Given the description of an element on the screen output the (x, y) to click on. 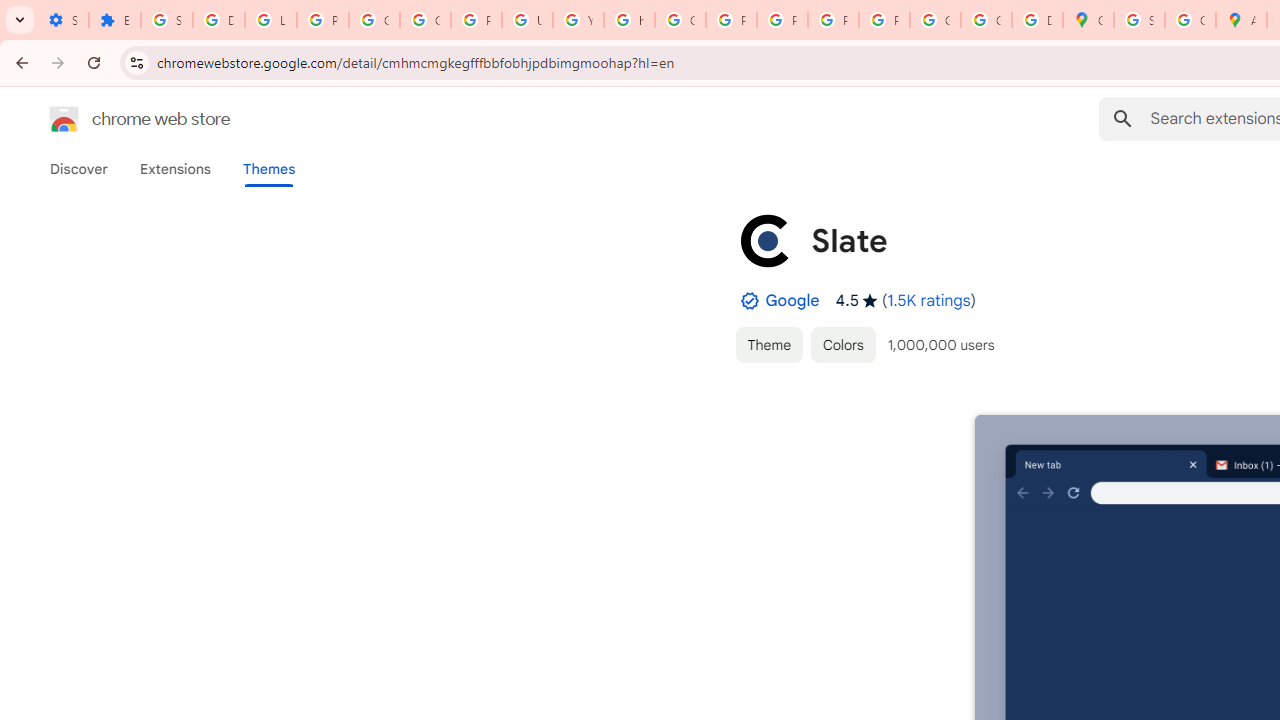
Privacy Help Center - Policies Help (731, 20)
Chrome Web Store logo chrome web store (118, 118)
YouTube (578, 20)
Create your Google Account (1189, 20)
1.5K ratings (929, 300)
